Given the description of an element on the screen output the (x, y) to click on. 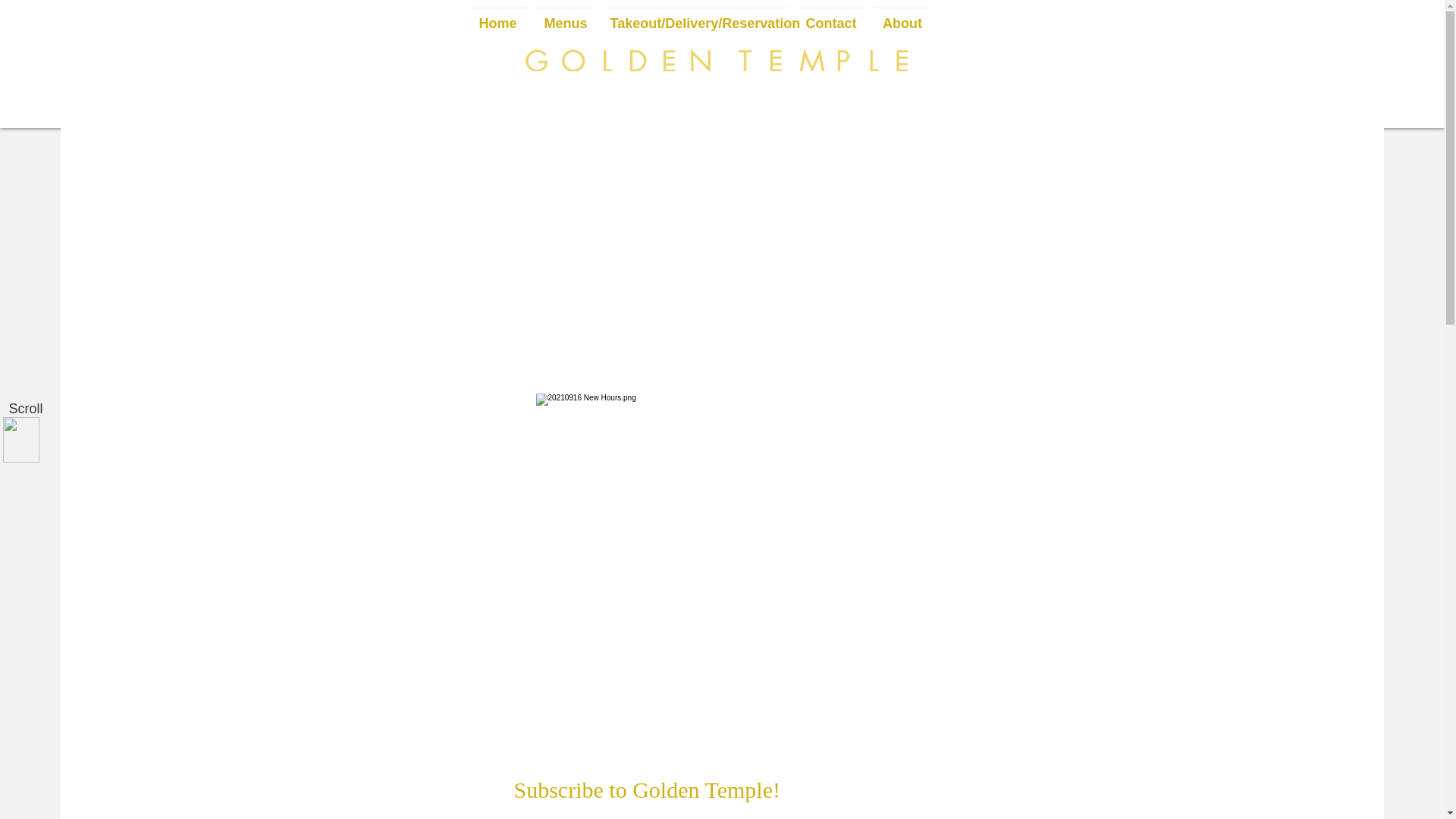
Home (497, 16)
Menus (565, 16)
About (901, 16)
Scroll (25, 409)
Contact (831, 16)
